Given the description of an element on the screen output the (x, y) to click on. 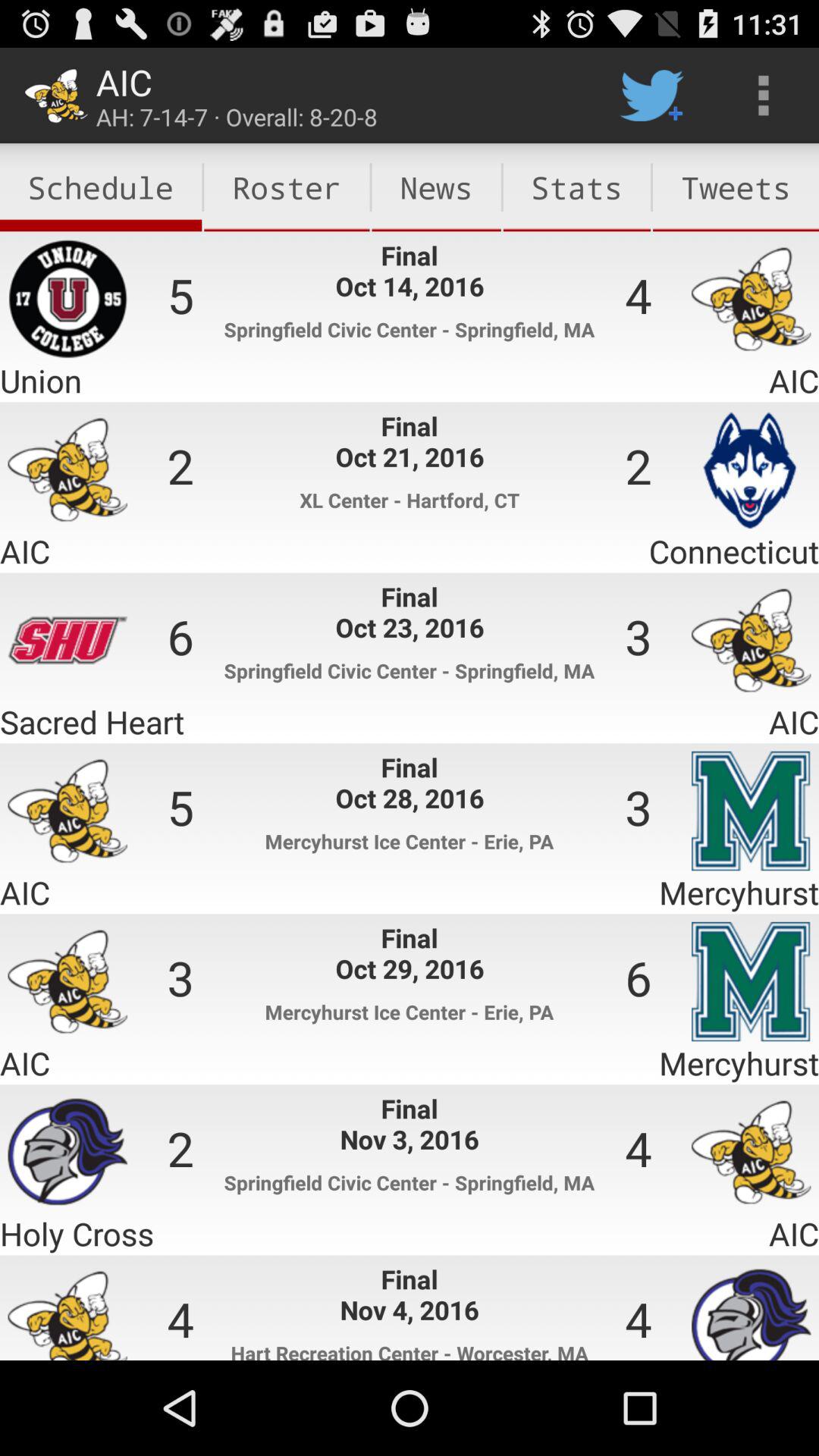
select the item to the right of the news (576, 187)
